Given the description of an element on the screen output the (x, y) to click on. 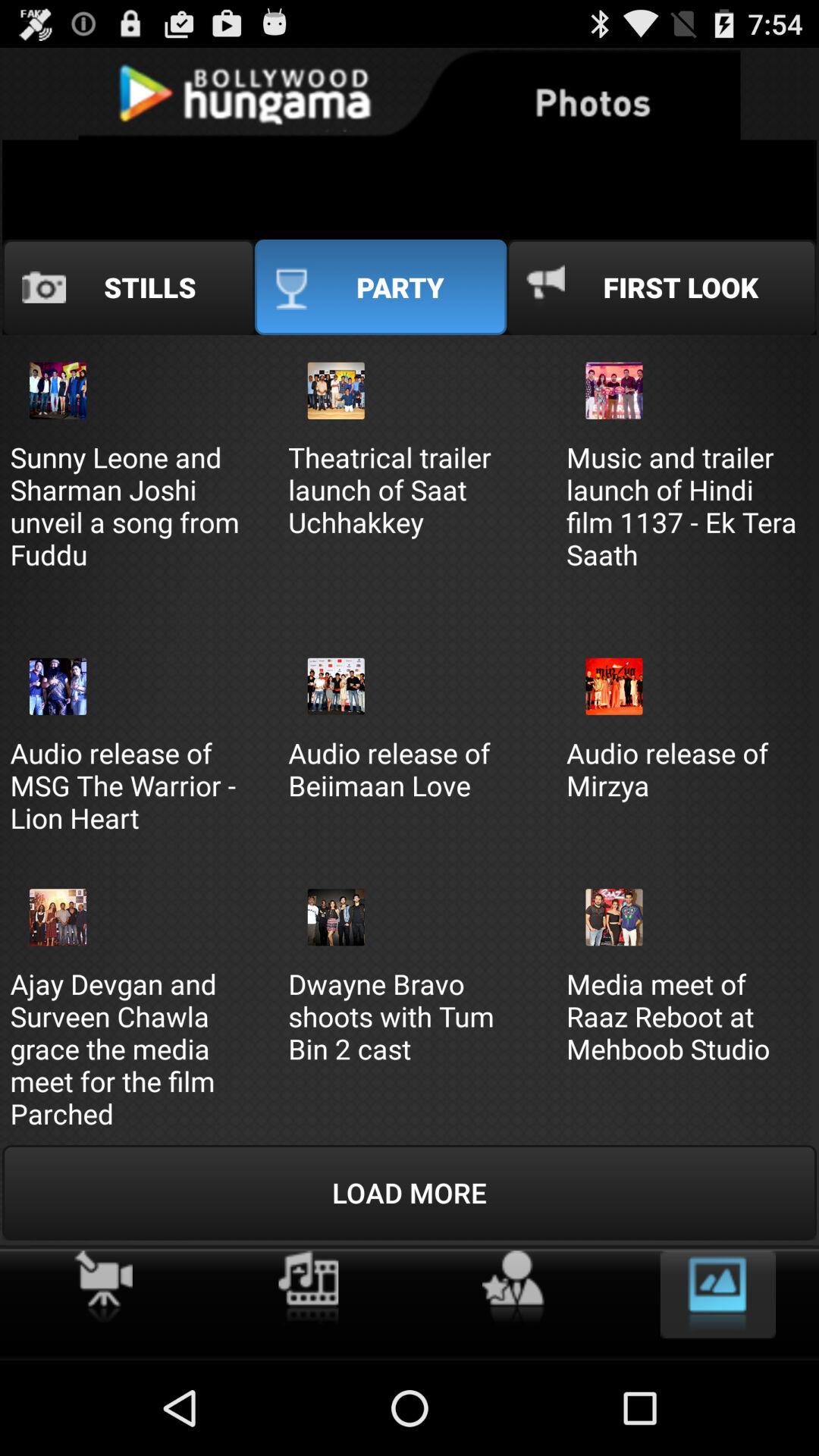
view gallery (717, 1294)
